Given the description of an element on the screen output the (x, y) to click on. 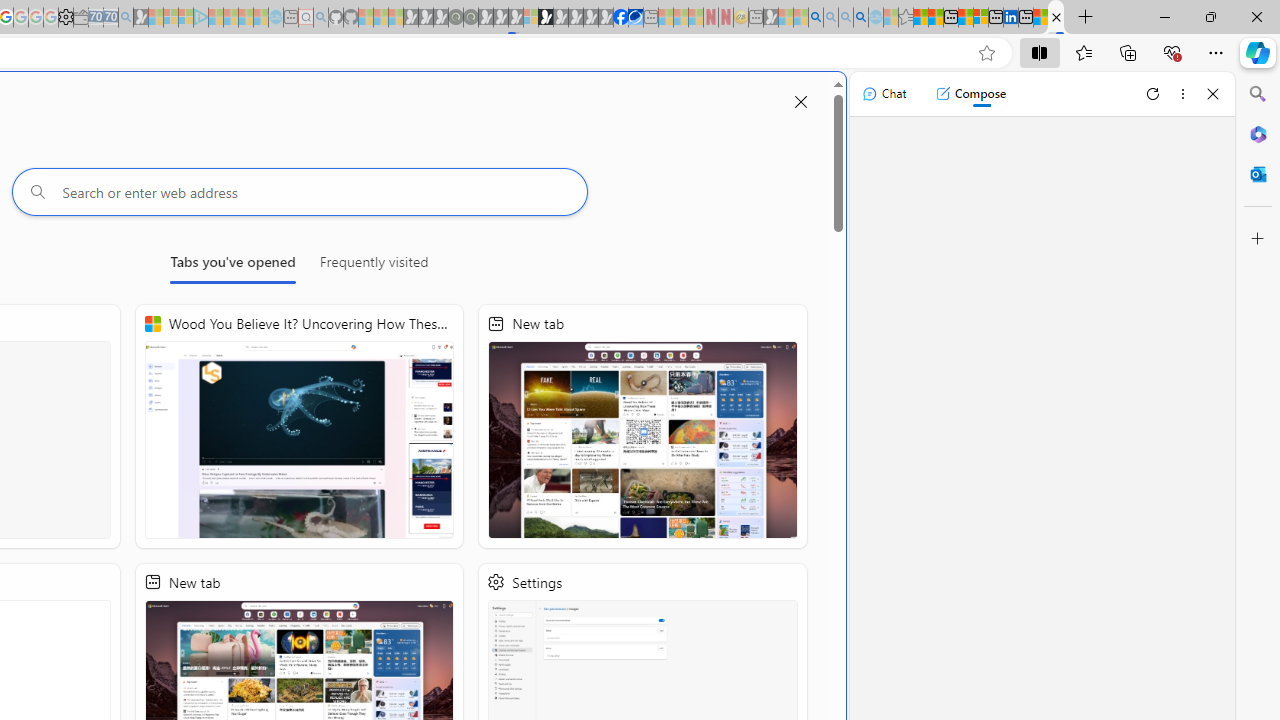
Frequently visited (373, 265)
Bing AI - Search (816, 17)
New split screen (1055, 17)
AQI & Health | AirNow.gov (635, 17)
Search or enter web address (299, 191)
